Given the description of an element on the screen output the (x, y) to click on. 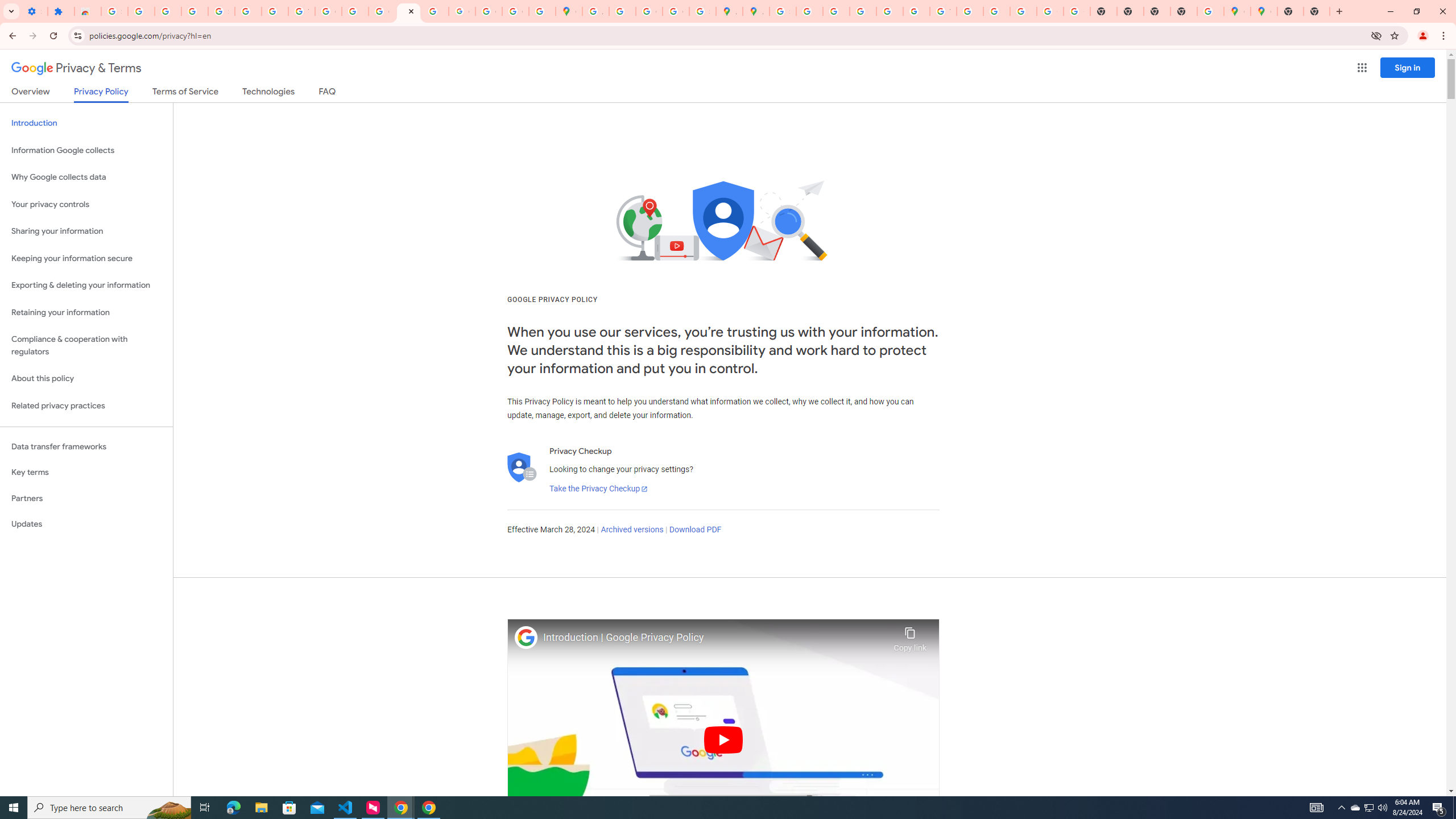
New Tab (1290, 11)
Download PDF (695, 529)
Why Google collects data (86, 176)
Learn how to find your photos - Google Photos Help (167, 11)
Safety in Our Products - Google Safety Center (702, 11)
Restore (1416, 11)
Related privacy practices (86, 405)
Archived versions (631, 529)
